Given the description of an element on the screen output the (x, y) to click on. 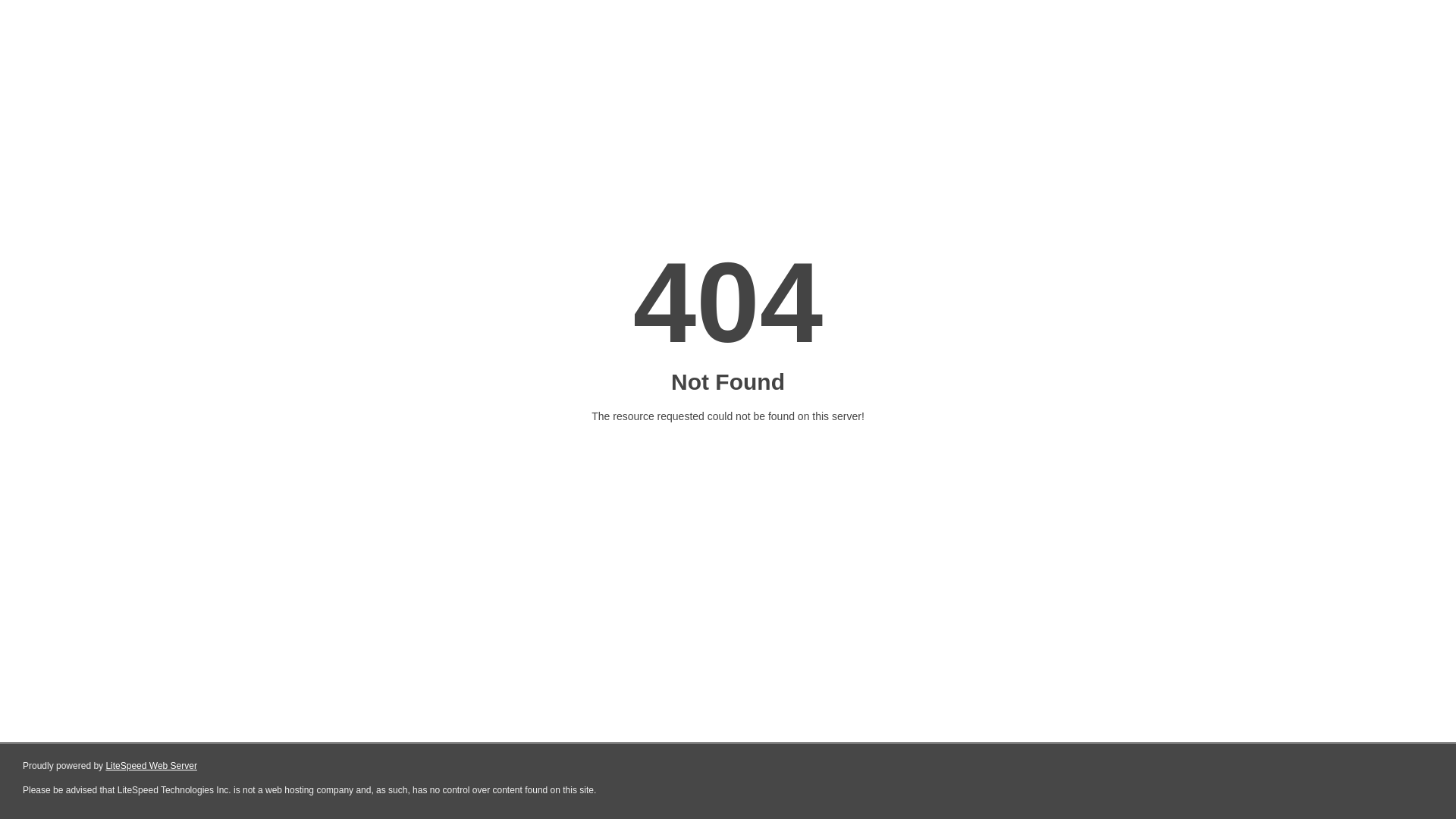
LiteSpeed Web Server Element type: text (151, 765)
